Given the description of an element on the screen output the (x, y) to click on. 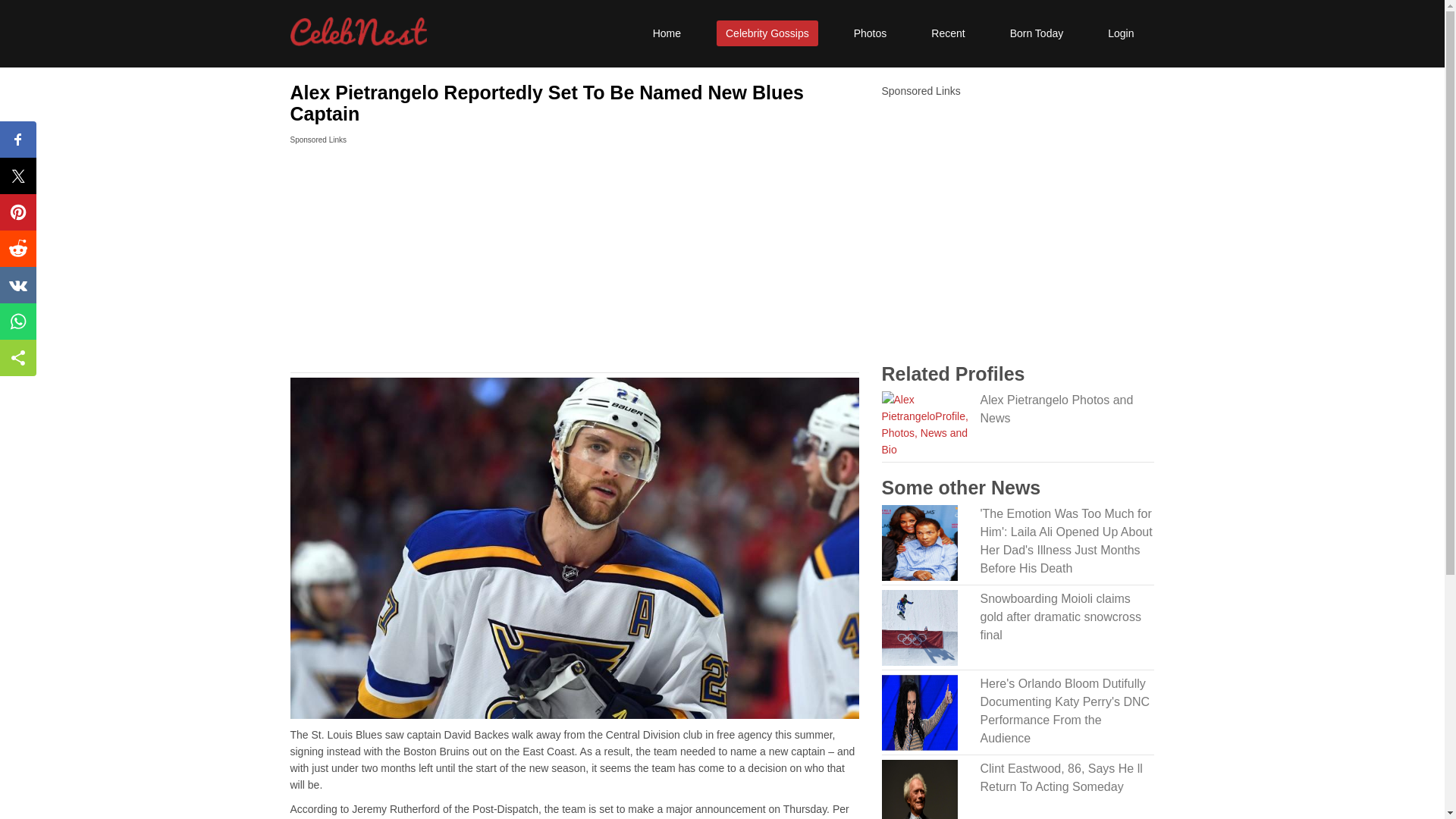
Alex Pietrangelo Photos and News (1066, 409)
Advertisement (574, 262)
Home (666, 32)
Recent (947, 32)
Clint Eastwood, 86, Says He ll Return To Acting Someday (1066, 778)
Born Today (1037, 32)
Alex PietrangeloProfile, Photos, News and Bio (1066, 409)
Celebrity Gossips (767, 32)
Login (1120, 32)
Alex PietrangeloProfile, Photos, News and Bio (924, 423)
Photos (870, 32)
Advertisement (1017, 213)
